Given the description of an element on the screen output the (x, y) to click on. 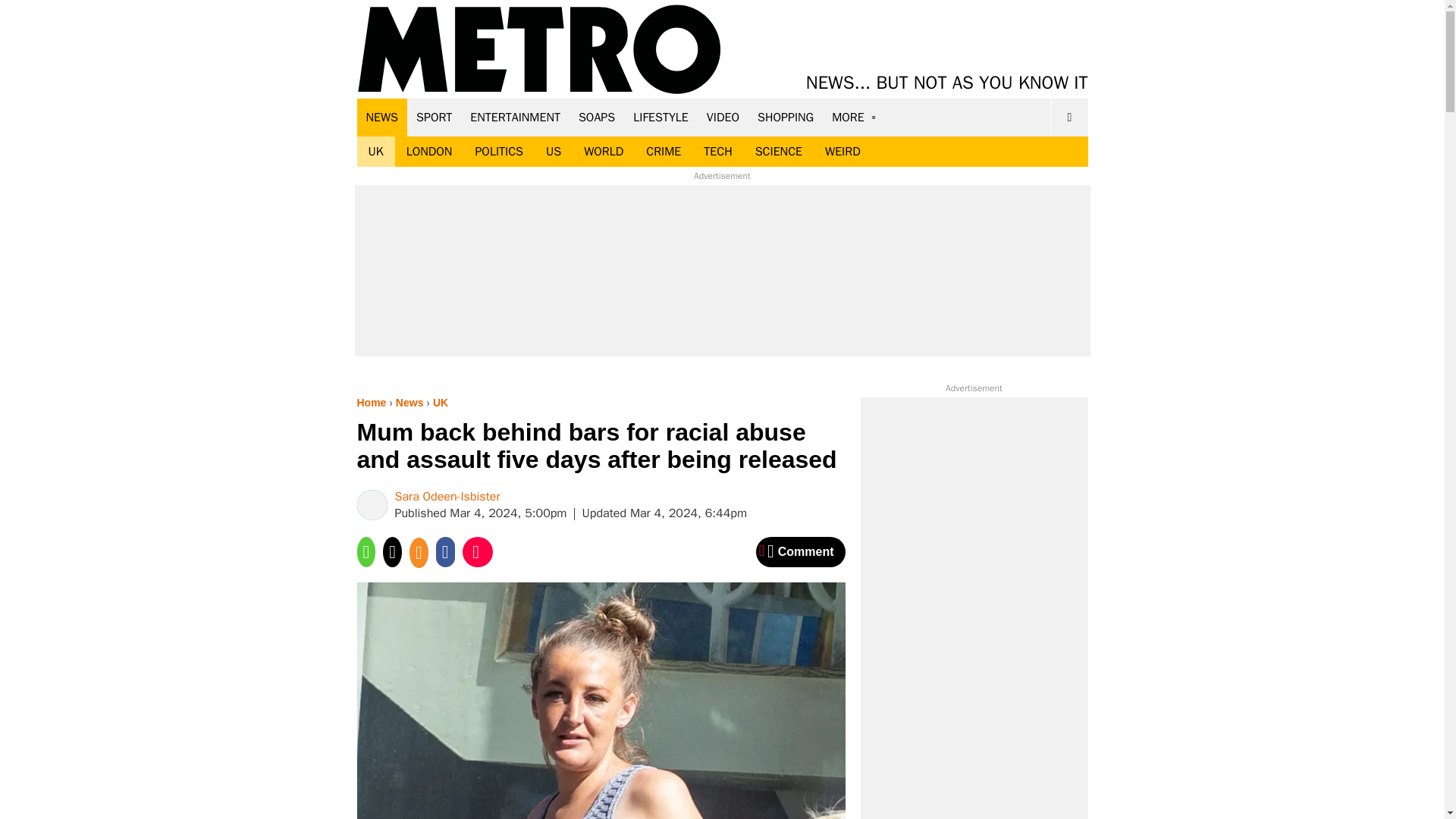
TECH (717, 151)
LIFESTYLE (660, 117)
US (553, 151)
UK (375, 151)
LONDON (429, 151)
WEIRD (842, 151)
CRIME (663, 151)
WORLD (603, 151)
Metro (539, 50)
POLITICS (498, 151)
